Given the description of an element on the screen output the (x, y) to click on. 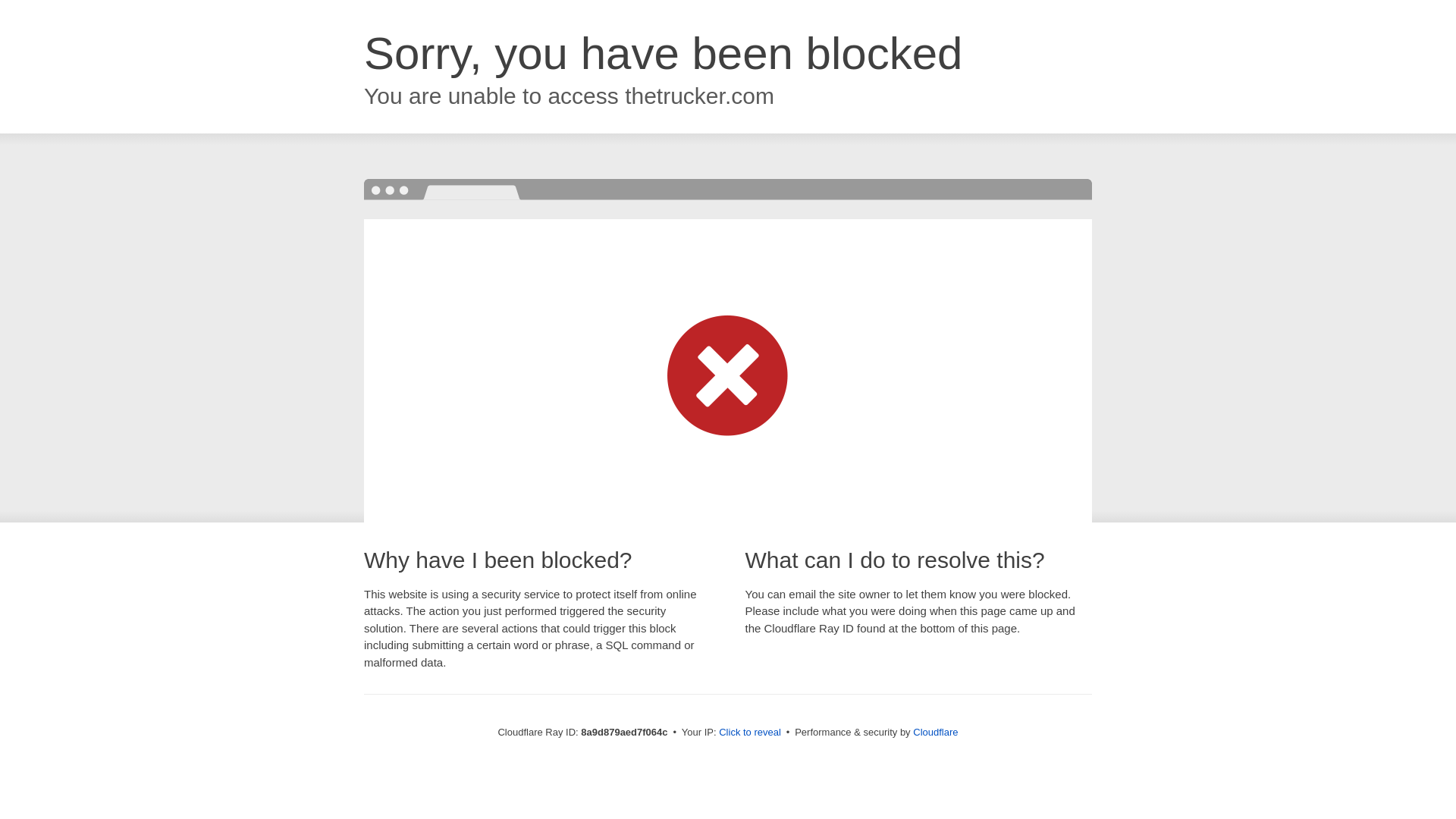
Click to reveal (749, 732)
Cloudflare (935, 731)
